Given the description of an element on the screen output the (x, y) to click on. 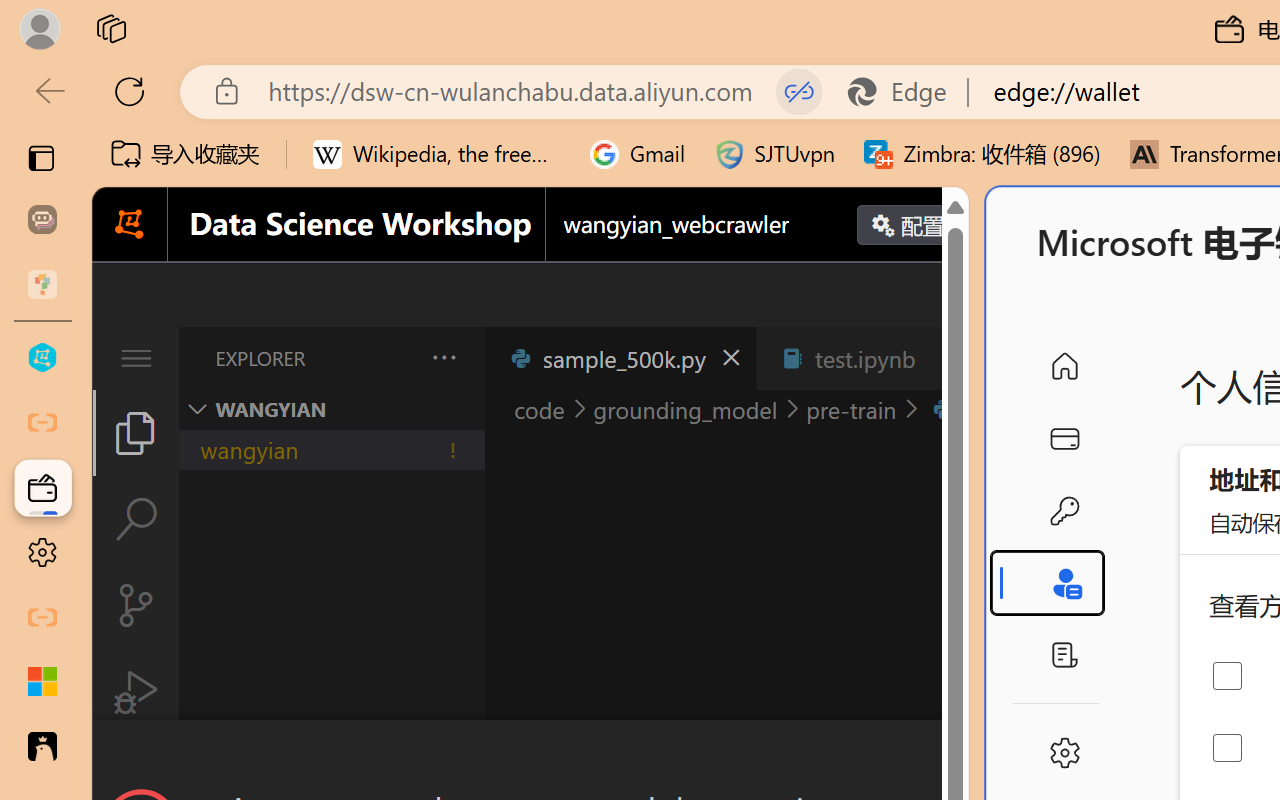
Search (Ctrl+Shift+F) (135, 519)
sample_500k.py (619, 358)
Close (Ctrl+F4) (946, 358)
Views and More Actions... (442, 357)
Application Menu (135, 358)
Class: menubar compact overflow-menu-only (135, 358)
Tab actions (945, 358)
